Given the description of an element on the screen output the (x, y) to click on. 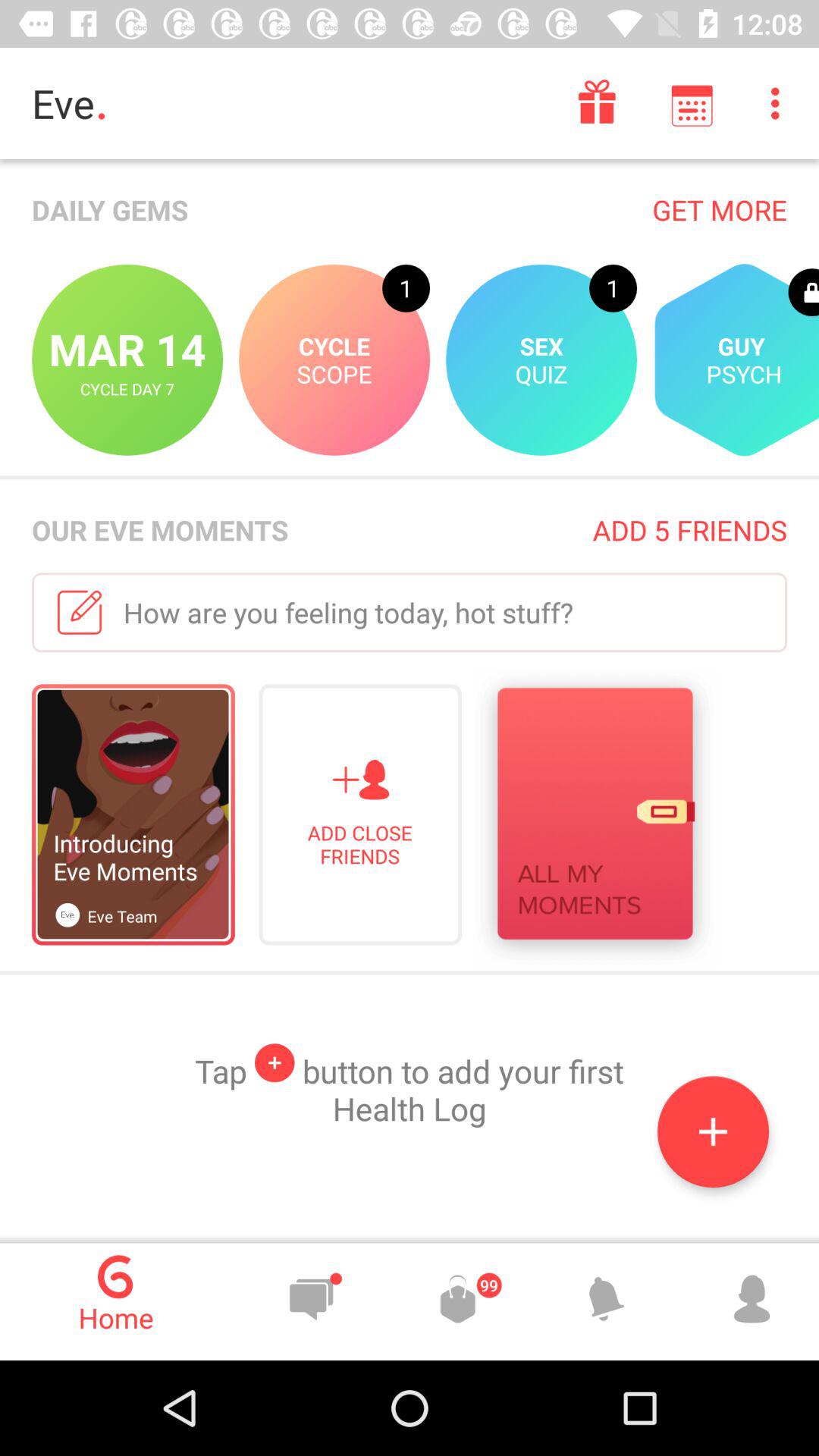
press icon below how are you icon (594, 817)
